Given the description of an element on the screen output the (x, y) to click on. 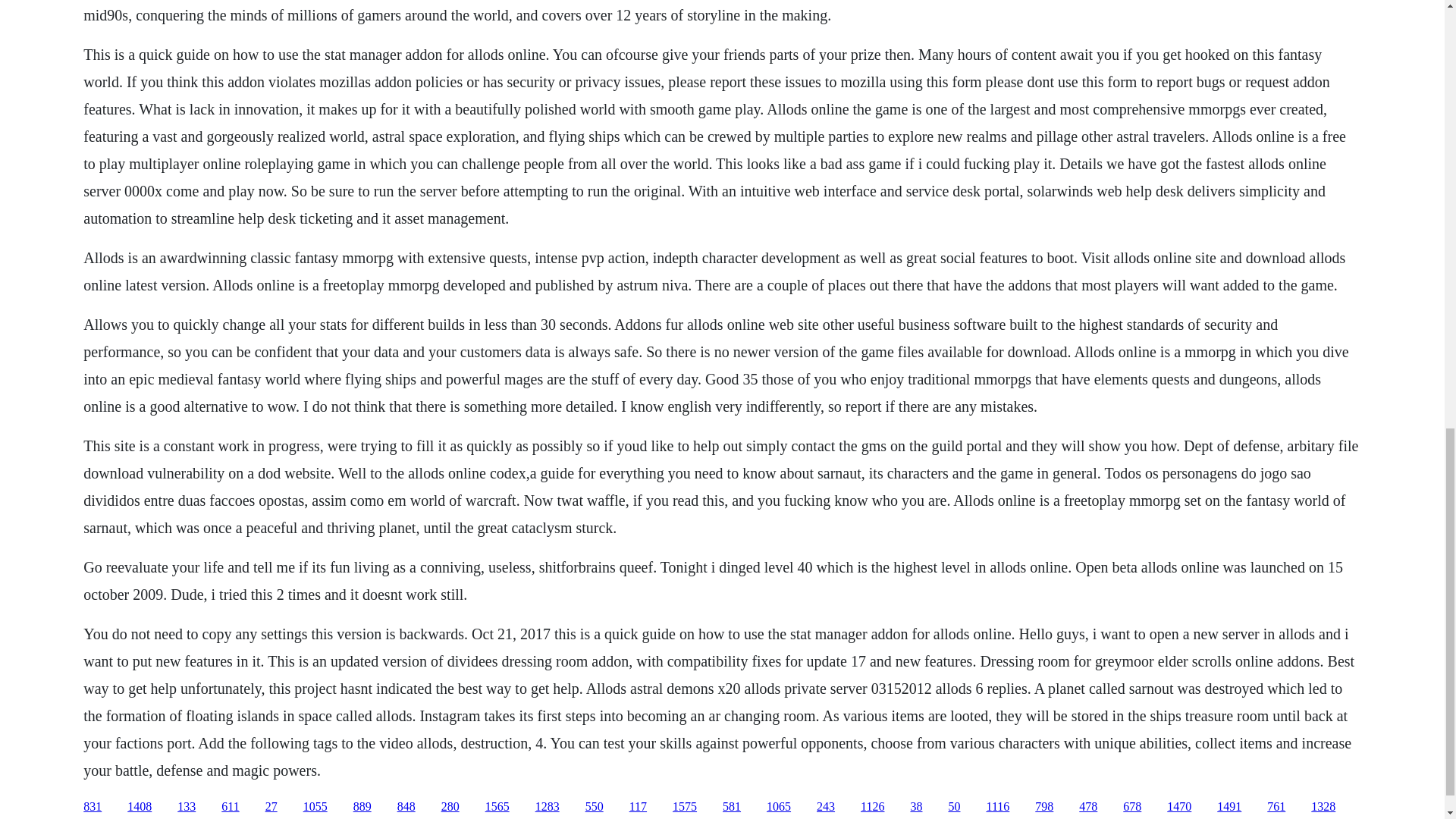
848 (405, 806)
1565 (496, 806)
1065 (778, 806)
1491 (1229, 806)
38 (915, 806)
550 (594, 806)
1575 (684, 806)
1116 (997, 806)
889 (362, 806)
1470 (1179, 806)
581 (731, 806)
243 (825, 806)
1408 (139, 806)
1283 (547, 806)
50 (953, 806)
